Given the description of an element on the screen output the (x, y) to click on. 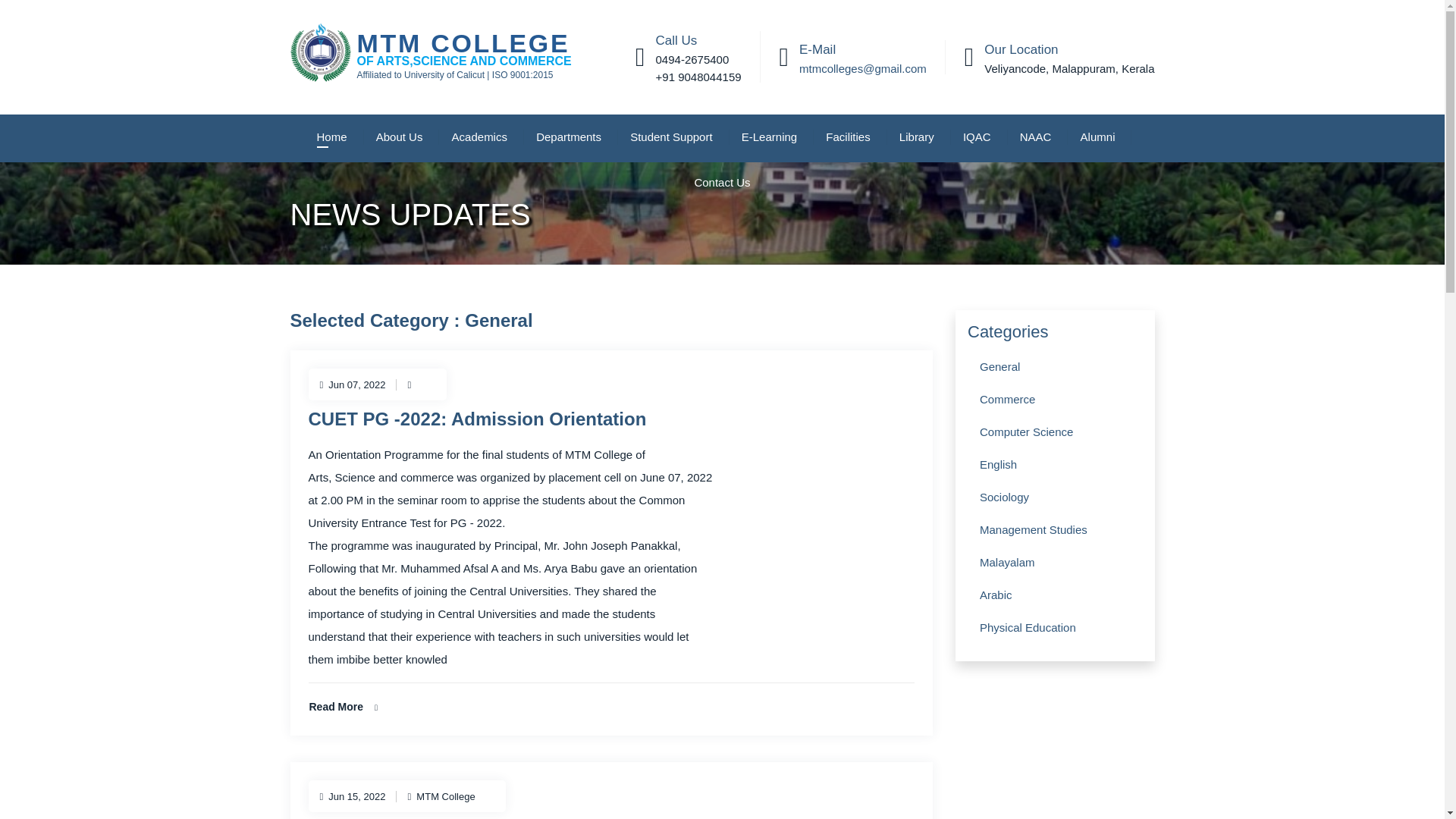
About Us (399, 136)
MTM College (440, 49)
Academics (478, 136)
